Given the description of an element on the screen output the (x, y) to click on. 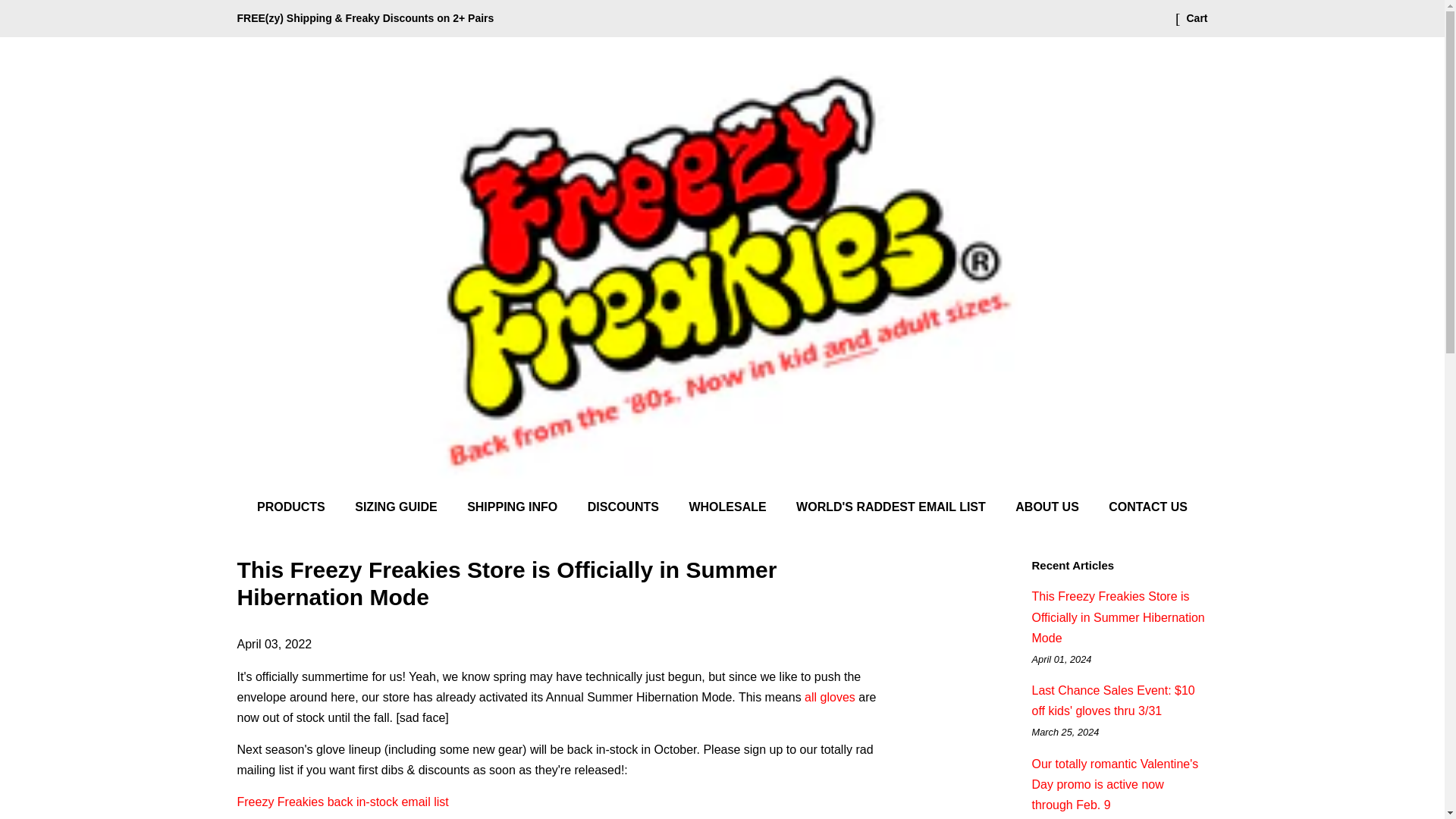
CONTACT US (1142, 506)
ABOUT US (1049, 506)
SIZING GUIDE (397, 506)
Freezy Freakies back in-stock email list (341, 801)
Freezy Freakies winter glove collection (830, 697)
Cart (1196, 18)
all gloves (830, 697)
Freezy Freakies newsletter sign up (341, 801)
DISCOUNTS (625, 506)
WORLD'S RADDEST EMAIL LIST (892, 506)
PRODUCTS (298, 506)
SHIPPING INFO (513, 506)
WHOLESALE (728, 506)
